Given the description of an element on the screen output the (x, y) to click on. 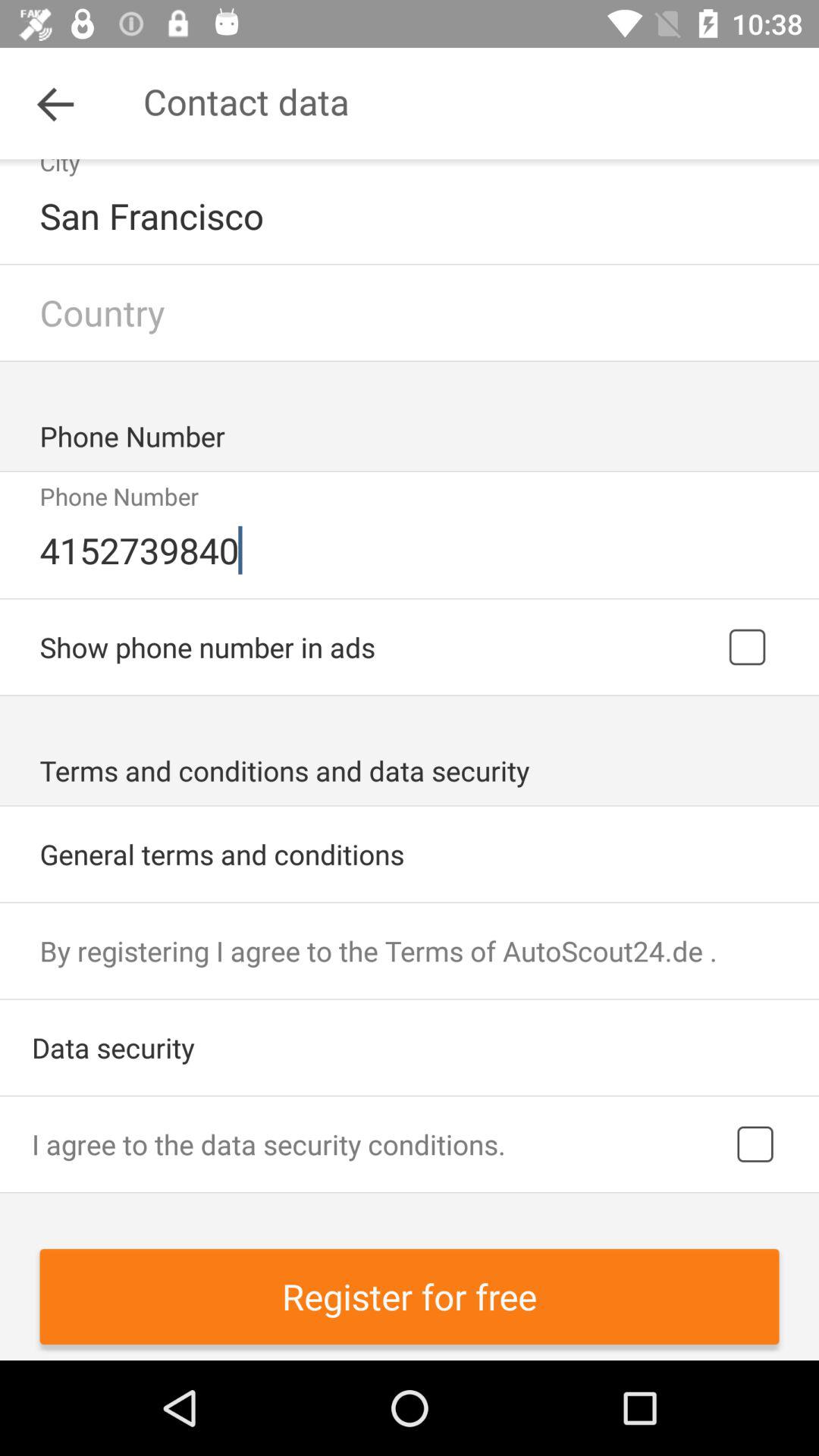
press the icon below phone number item (411, 550)
